Given the description of an element on the screen output the (x, y) to click on. 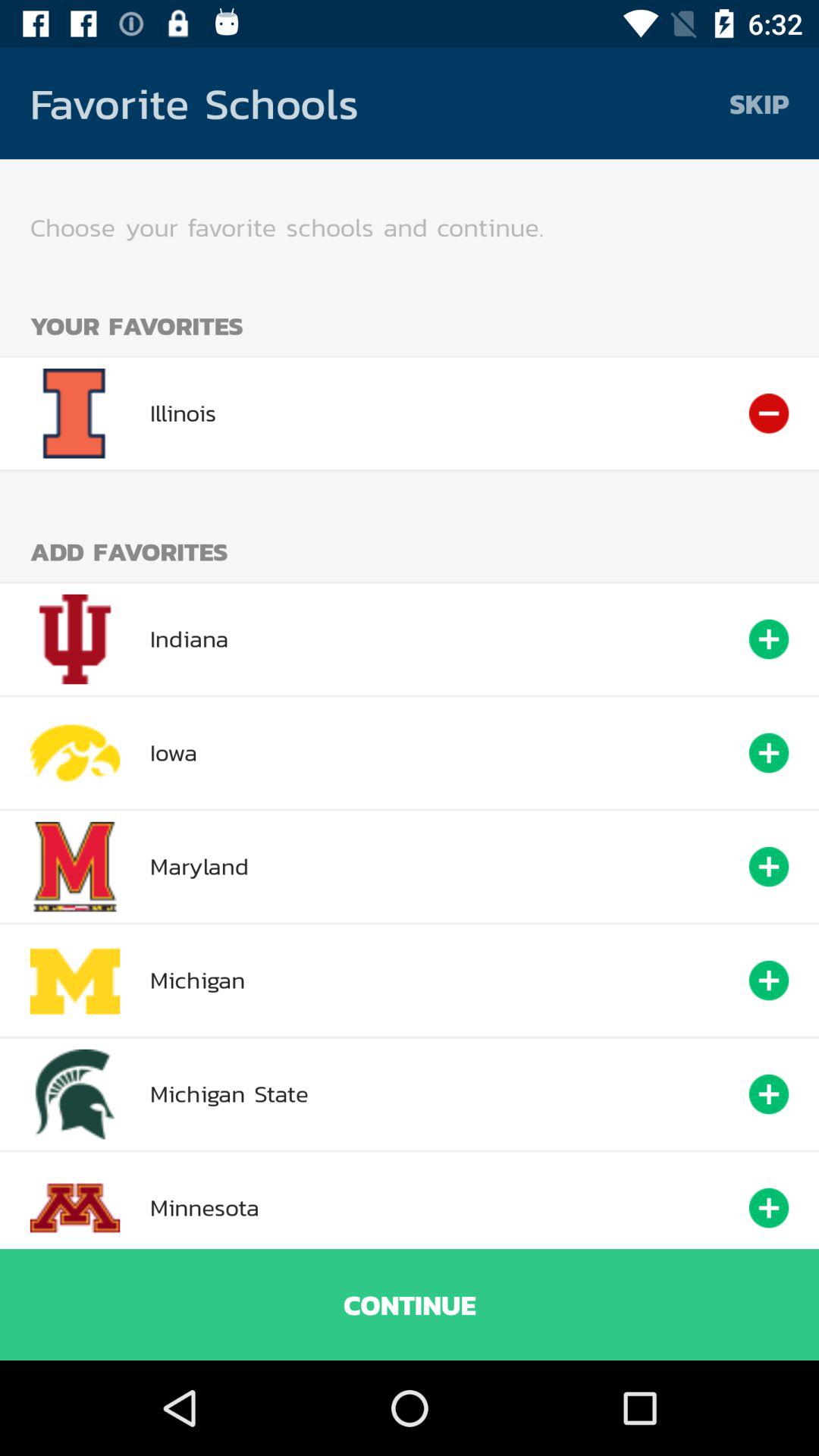
select skip icon (758, 103)
